Given the description of an element on the screen output the (x, y) to click on. 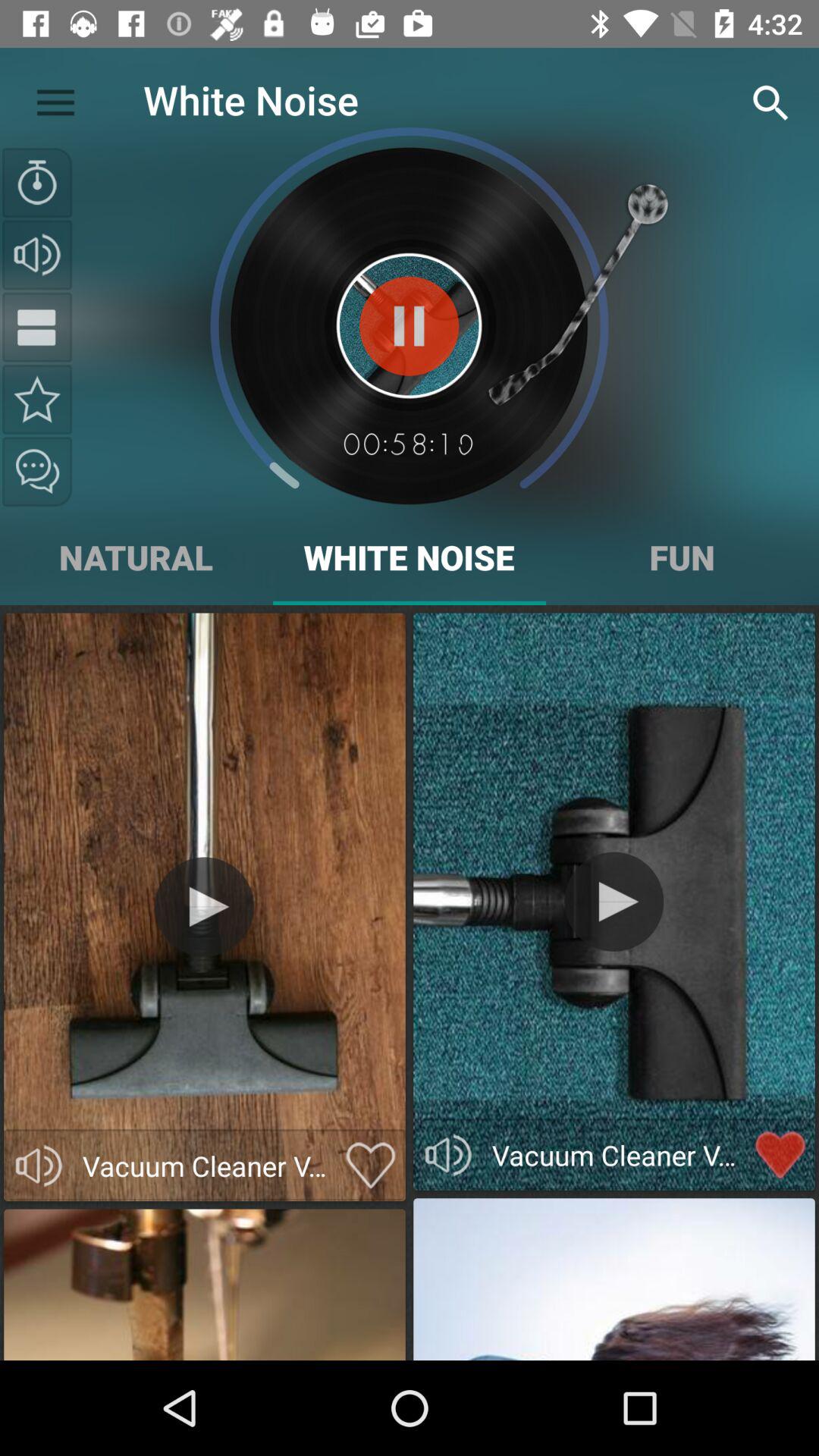
play video (613, 901)
